Given the description of an element on the screen output the (x, y) to click on. 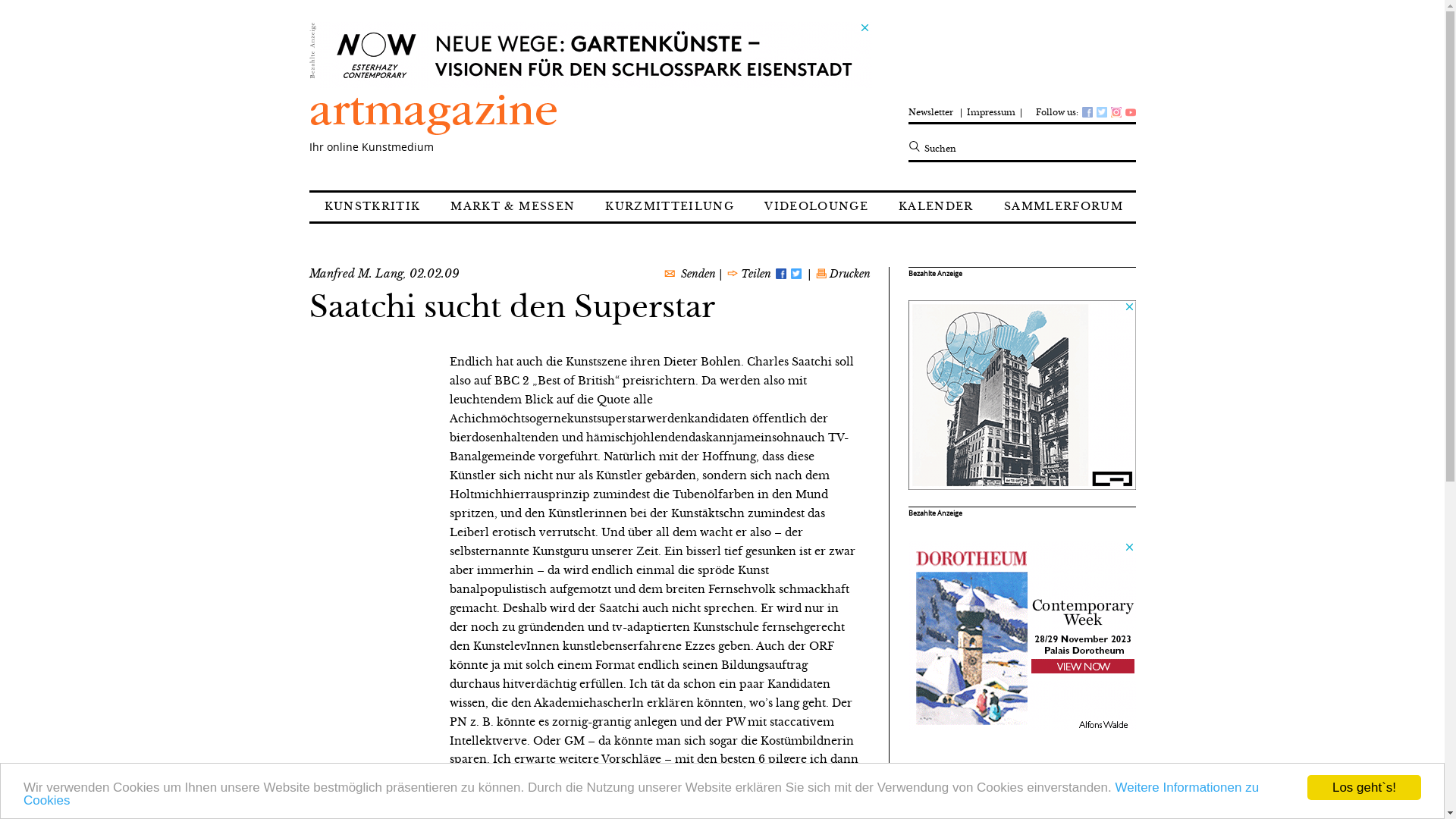
Impressum Element type: text (991, 107)
SAMMLERFORUM Element type: text (1063, 206)
Los geht`s! Element type: text (1364, 787)
KURZMITTEILUNG Element type: text (669, 206)
VIDEOLOUNGE Element type: text (816, 206)
KALENDER Element type: text (935, 206)
Twitter Element type: hover (794, 274)
Ihr online Kunstmedium Element type: text (445, 122)
3rd party ad content Element type: hover (1021, 394)
Senden Element type: text (697, 273)
MARKT & MESSEN Element type: text (512, 206)
Facebook Element type: hover (779, 274)
Weitere Informationen zu Cookies Element type: text (640, 793)
Drucken Element type: text (848, 273)
3rd party ad content Element type: hover (1021, 635)
KUNSTKRITIK Element type: text (372, 206)
Newsletter Element type: text (933, 107)
3rd party ad content Element type: hover (594, 55)
